Given the description of an element on the screen output the (x, y) to click on. 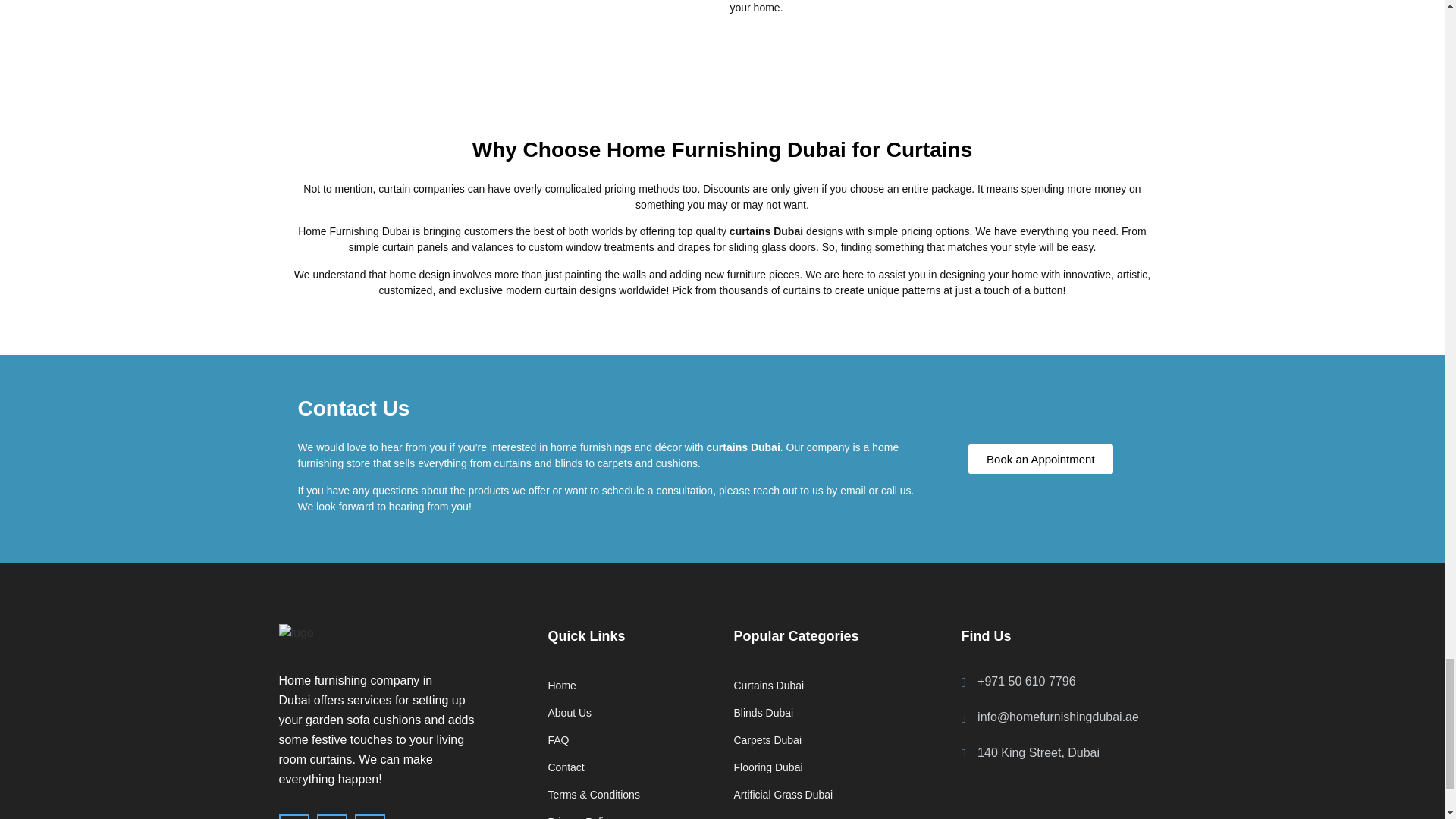
Home (628, 685)
Book an Appointment (1040, 459)
About Us (628, 712)
